Given the description of an element on the screen output the (x, y) to click on. 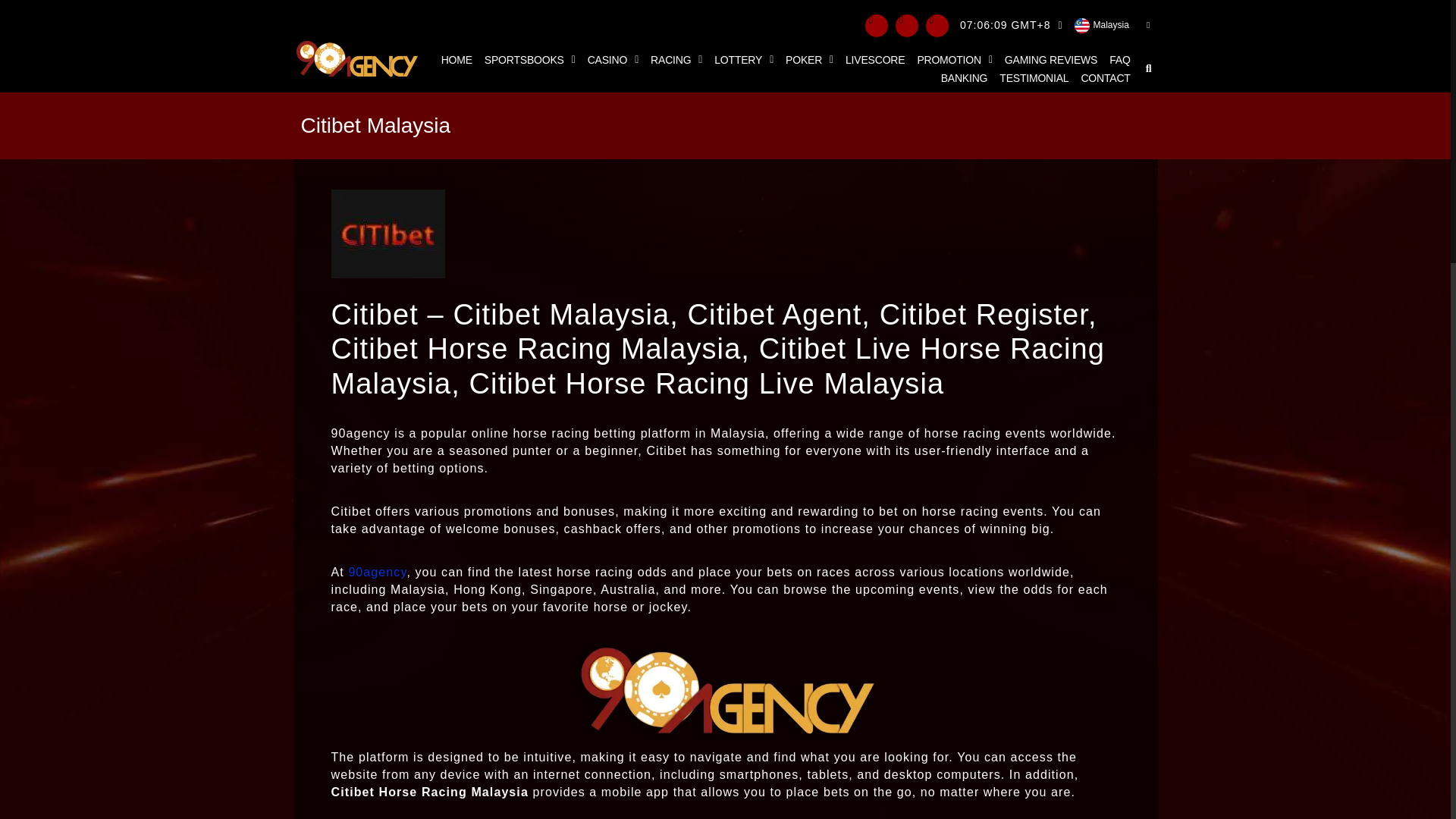
LOTTERY (742, 59)
SPORTSBOOKS (529, 59)
RACING (676, 59)
HOME (457, 59)
Malaysia (1111, 25)
CASINO (612, 59)
